Given the description of an element on the screen output the (x, y) to click on. 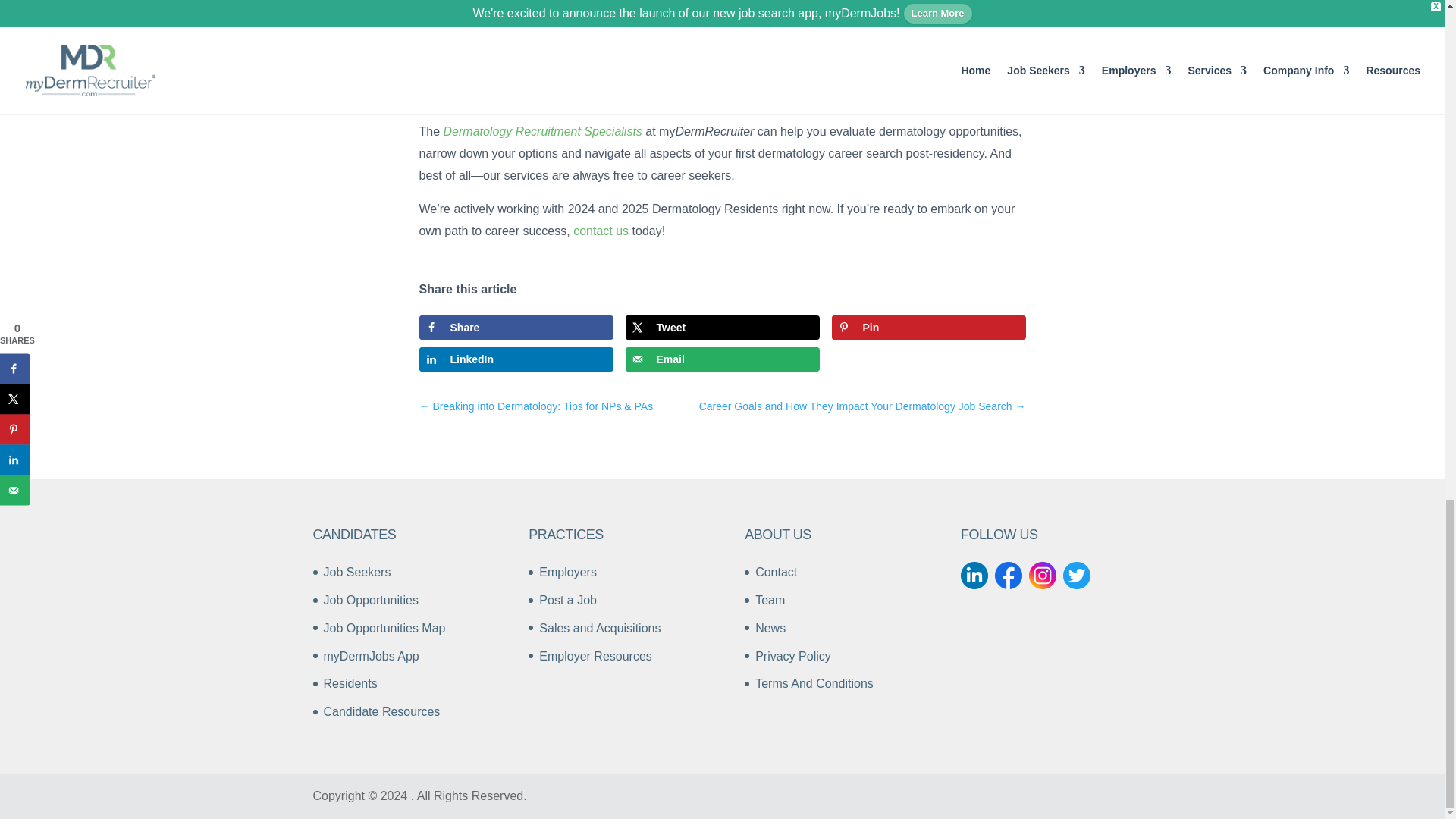
Share on Facebook (515, 327)
Send over email (721, 359)
Save to Pinterest (928, 327)
Share on LinkedIn (515, 359)
Share on X (721, 327)
